Given the description of an element on the screen output the (x, y) to click on. 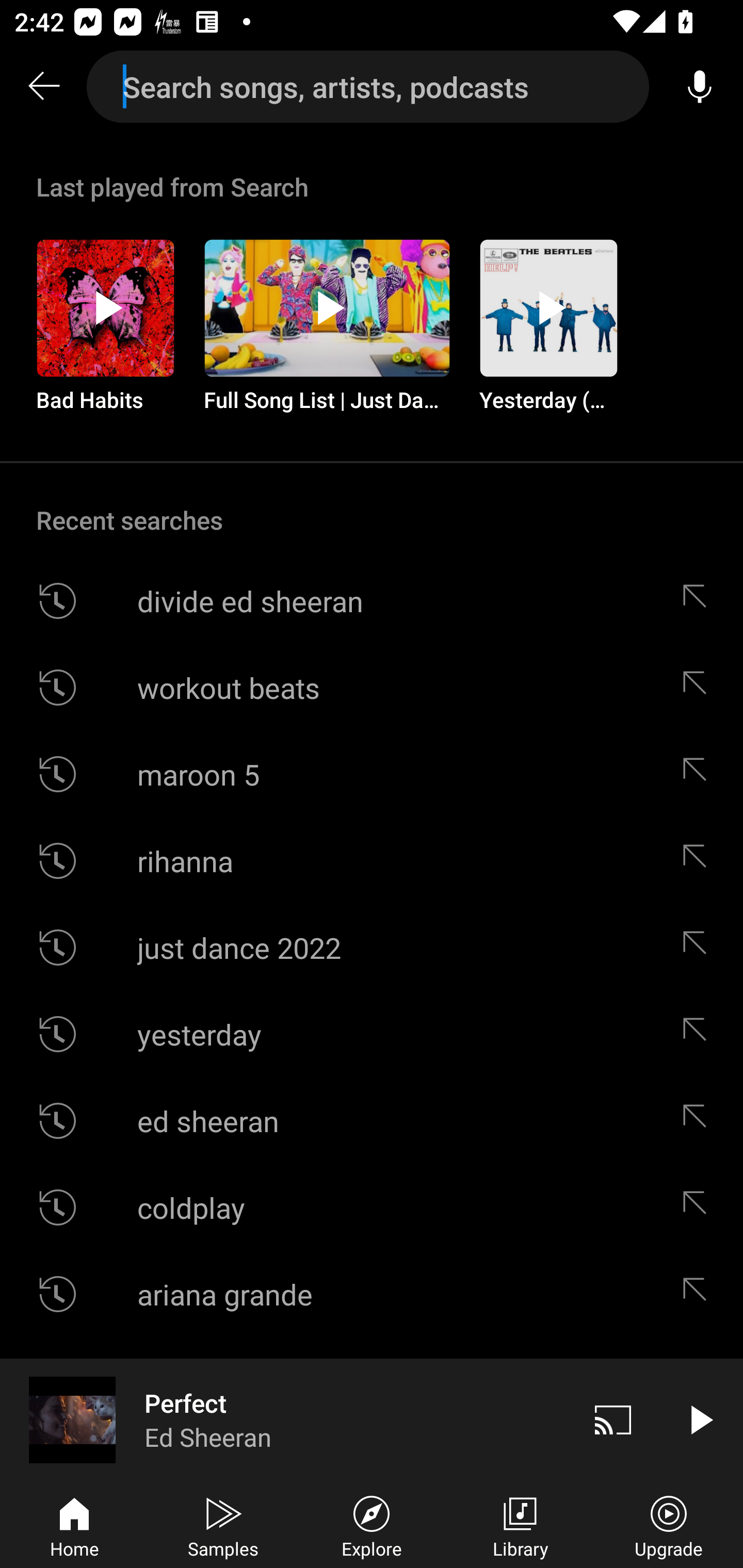
Search back (43, 86)
Search songs, artists, podcasts (367, 86)
Voice search (699, 86)
Edit suggestion divide ed sheeran (699, 601)
workout beats Edit suggestion workout beats (371, 687)
Edit suggestion workout beats (699, 687)
maroon 5 Edit suggestion maroon 5 (371, 773)
Edit suggestion maroon 5 (699, 773)
rihanna Edit suggestion rihanna (371, 860)
Edit suggestion rihanna (699, 860)
just dance 2022 Edit suggestion just dance 2022 (371, 947)
Edit suggestion just dance 2022 (699, 947)
yesterday Edit suggestion yesterday (371, 1033)
Edit suggestion yesterday (699, 1033)
ed sheeran Edit suggestion ed sheeran (371, 1120)
Edit suggestion ed sheeran (699, 1120)
coldplay Edit suggestion coldplay (371, 1207)
Edit suggestion coldplay (699, 1207)
ariana grande Edit suggestion ariana grande (371, 1294)
Edit suggestion ariana grande (699, 1294)
Perfect Ed Sheeran (284, 1419)
Cast. Disconnected (612, 1419)
Play video (699, 1419)
Home (74, 1524)
Samples (222, 1524)
Explore (371, 1524)
Library (519, 1524)
Upgrade (668, 1524)
